Given the description of an element on the screen output the (x, y) to click on. 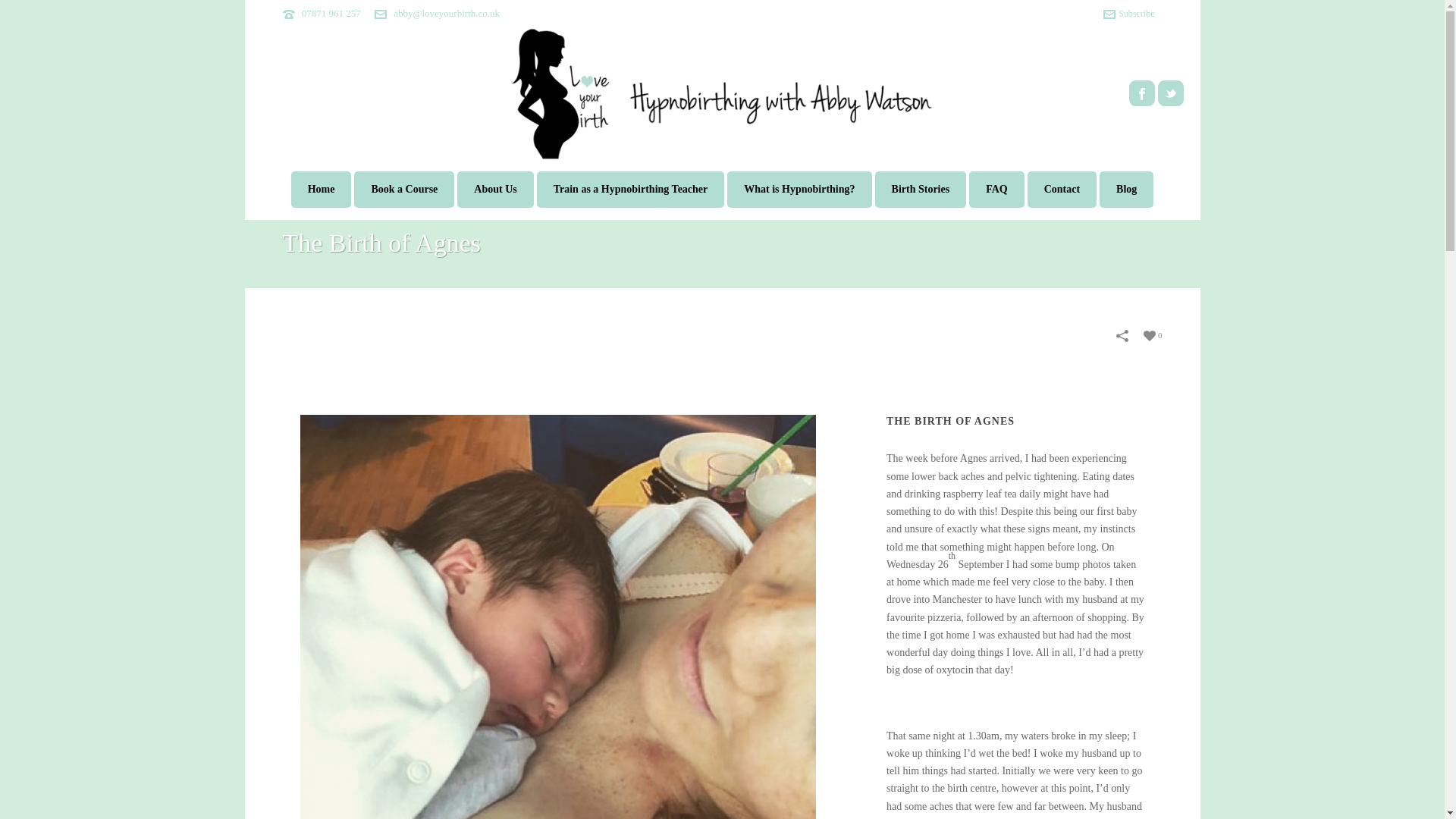
Train as a Hypnobirthing Teacher (631, 189)
Contact (1061, 189)
Book a Course (403, 189)
Blog (1126, 189)
What is Hypnobirthing? (798, 189)
Contact (1061, 189)
Blog (1126, 189)
FAQ (997, 189)
FAQ (997, 189)
About Us (494, 189)
